Given the description of an element on the screen output the (x, y) to click on. 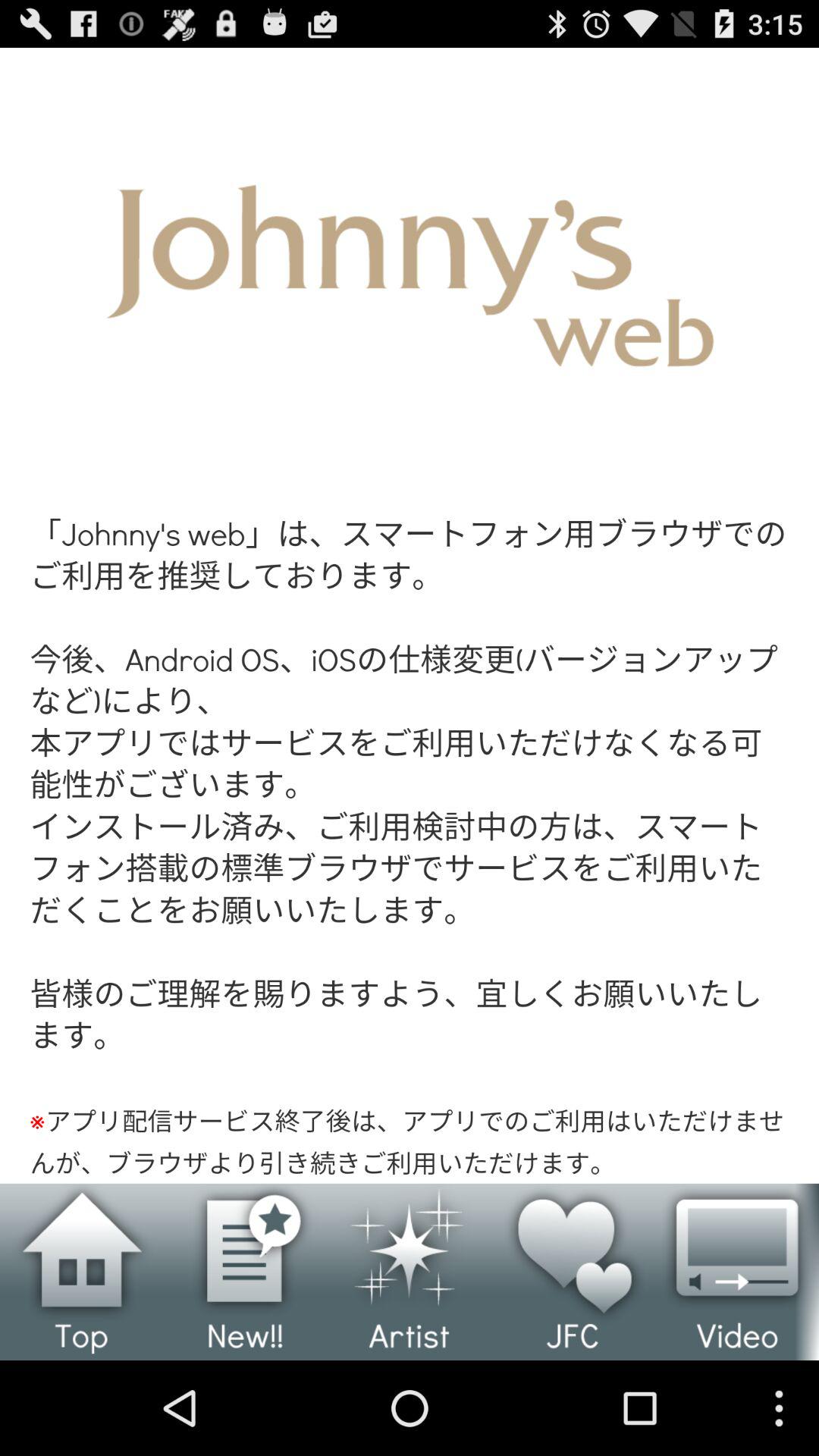
play video (737, 1271)
